Given the description of an element on the screen output the (x, y) to click on. 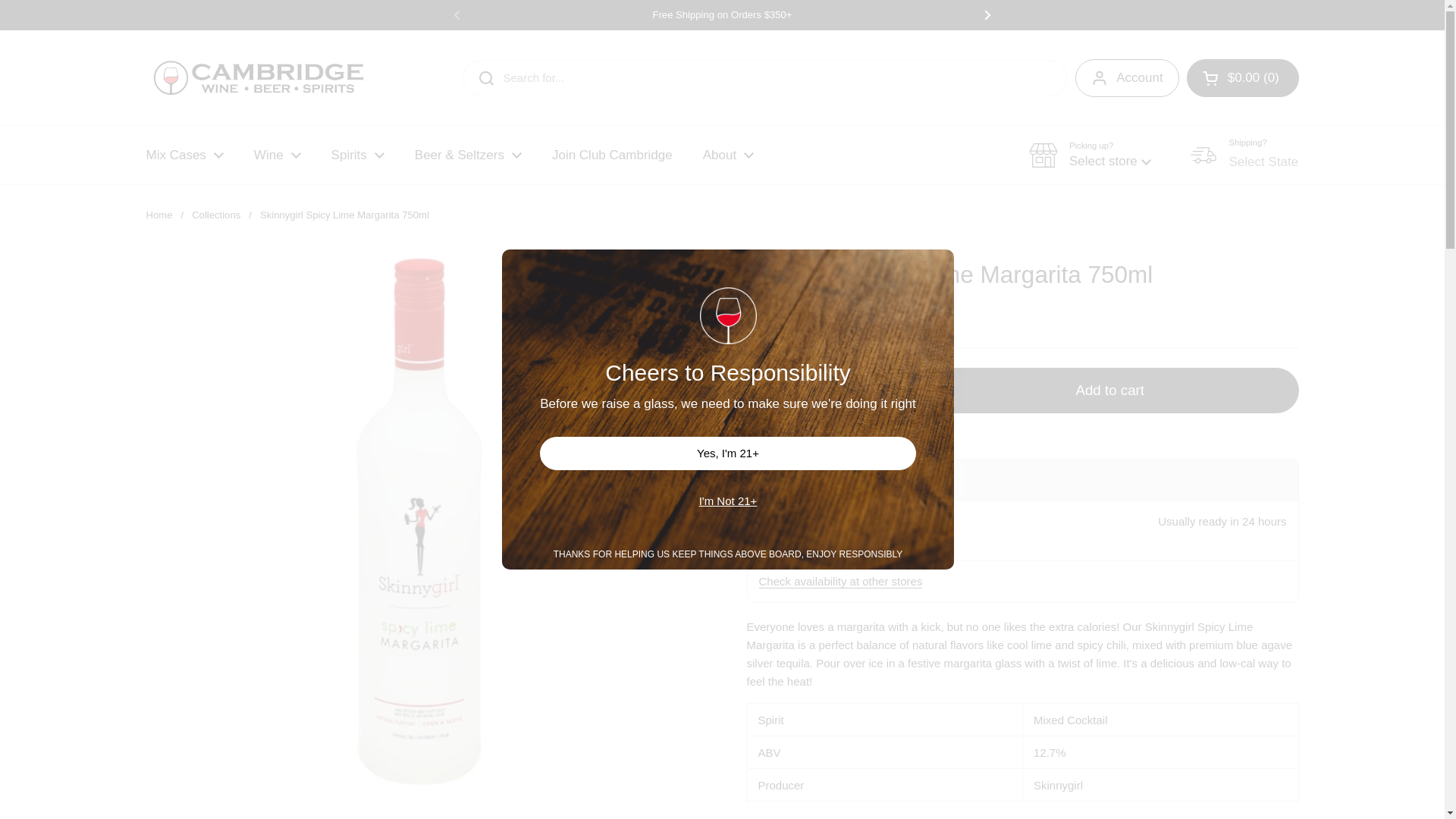
Mix Cases (184, 154)
Mix Cases (184, 154)
Wine (276, 154)
Cambridge Wines (257, 77)
Wine (276, 154)
1 (827, 390)
Account (1126, 77)
Open cart (1242, 77)
